Given the description of an element on the screen output the (x, y) to click on. 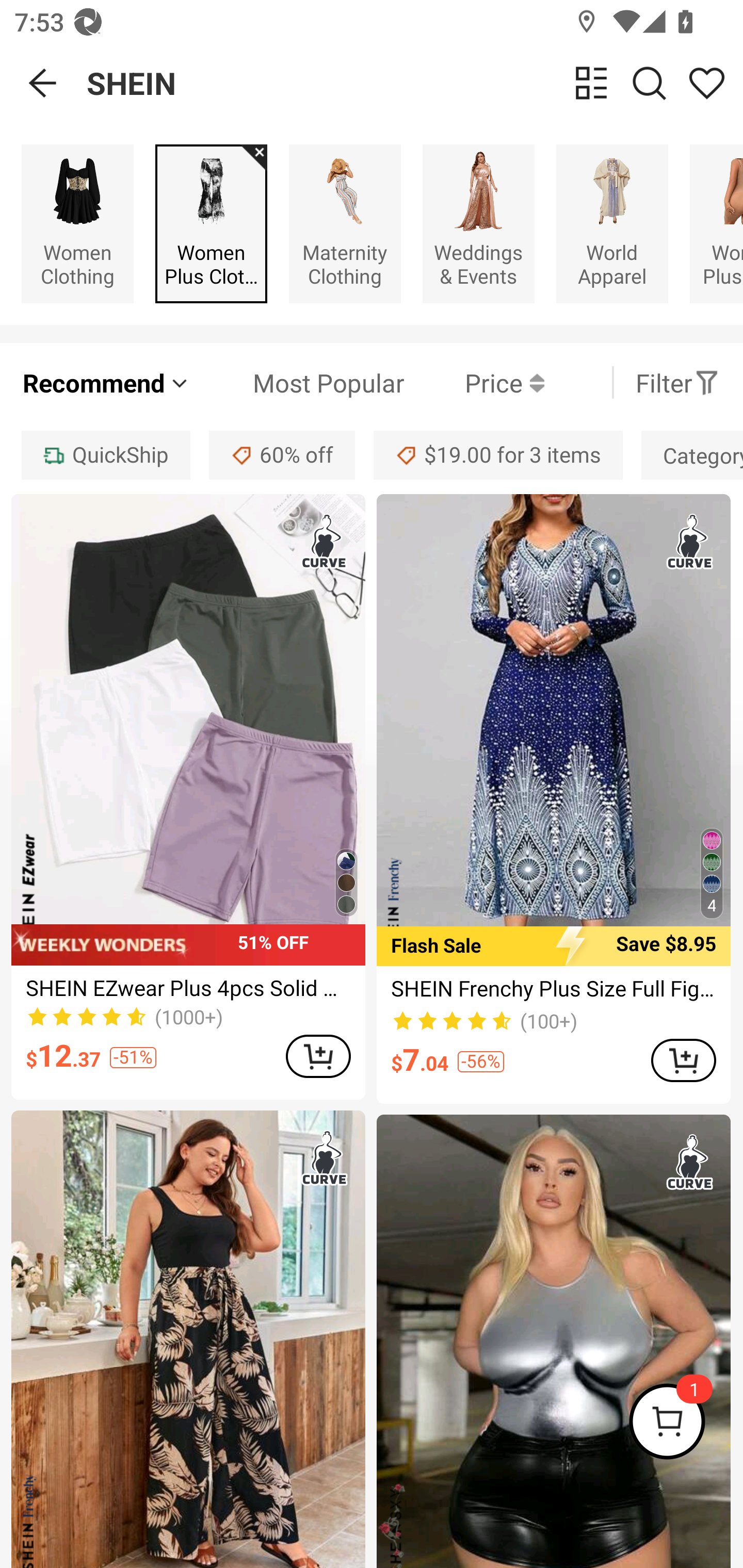
SHEIN change view Search Share (414, 82)
change view (591, 82)
Search (648, 82)
Share (706, 82)
Women Clothing (77, 223)
Women Plus Clothing (211, 223)
Maternity Clothing (345, 223)
Weddings & Events (478, 223)
World Apparel (611, 223)
Recommend (106, 382)
Most Popular (297, 382)
Price (474, 382)
Filter (677, 382)
QuickShip (105, 455)
60% off (281, 455)
$19.00 for 3 items (497, 455)
Category (692, 455)
ADD TO CART (318, 1056)
ADD TO CART (683, 1059)
